Given the description of an element on the screen output the (x, y) to click on. 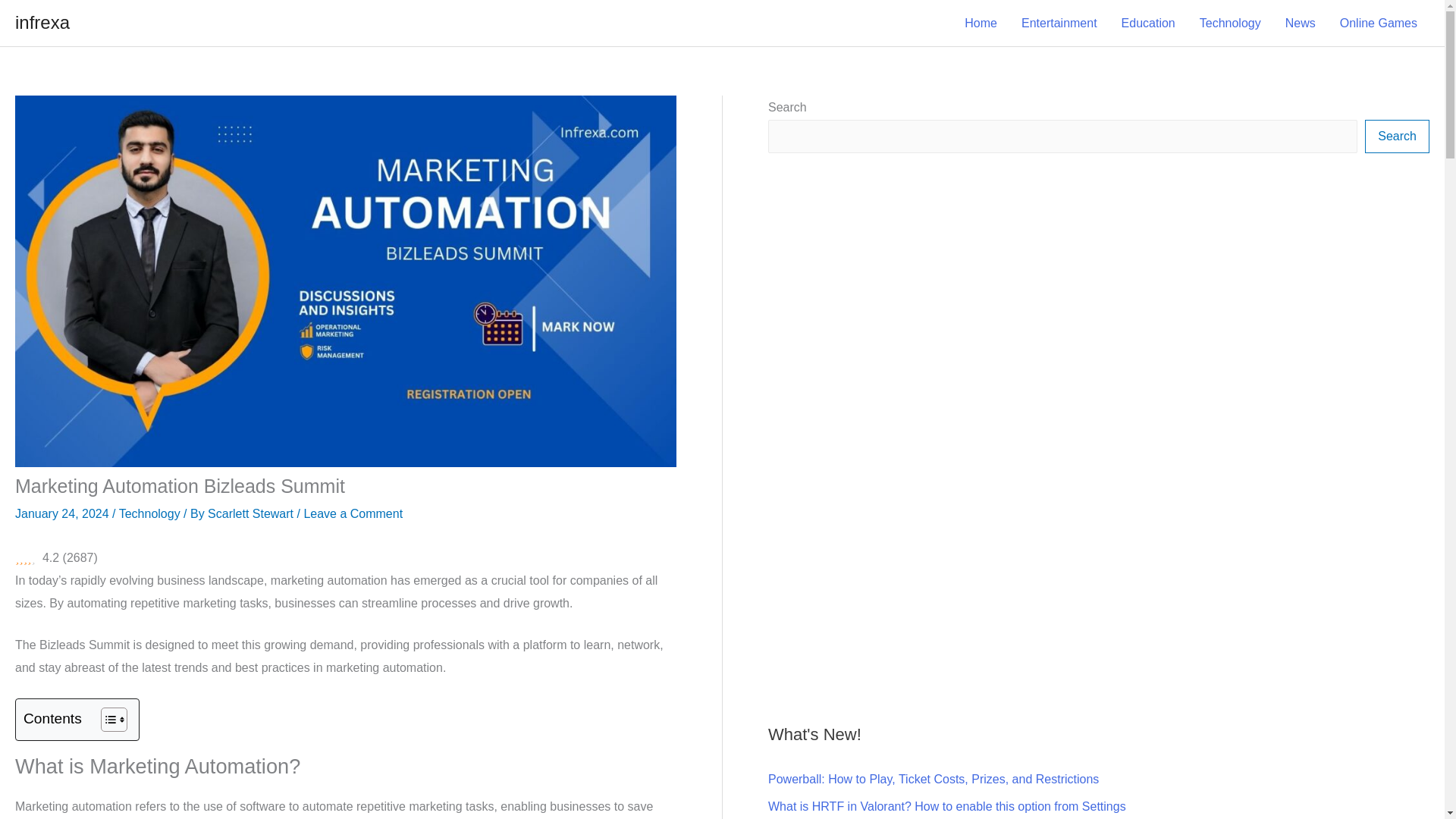
Entertainment (1059, 23)
Scarlett Stewart (252, 513)
Education (1148, 23)
Technology (149, 513)
Home (980, 23)
infrexa (41, 22)
Online Games (1378, 23)
News (1299, 23)
Leave a Comment (352, 513)
View all posts by Scarlett Stewart (252, 513)
Technology (1230, 23)
